Given the description of an element on the screen output the (x, y) to click on. 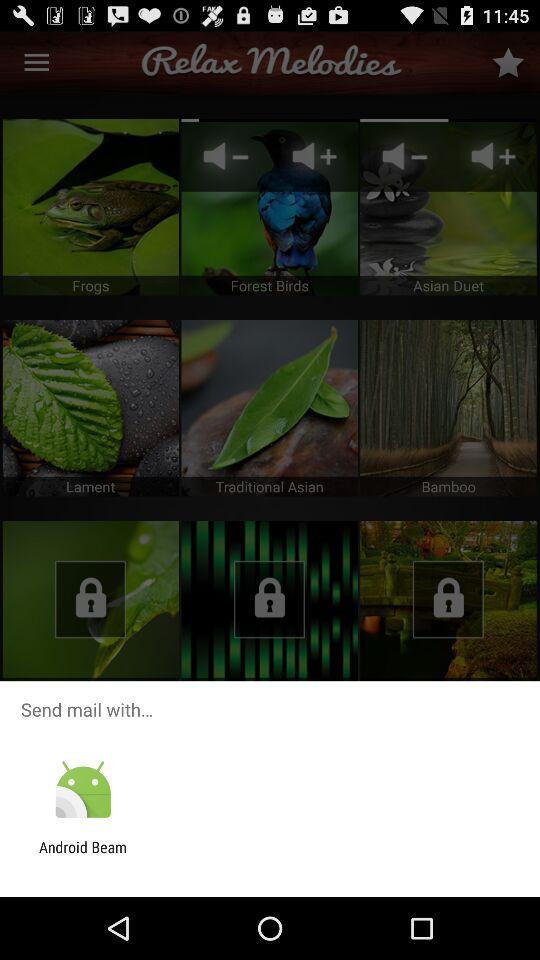
choose item above the android beam item (82, 789)
